Given the description of an element on the screen output the (x, y) to click on. 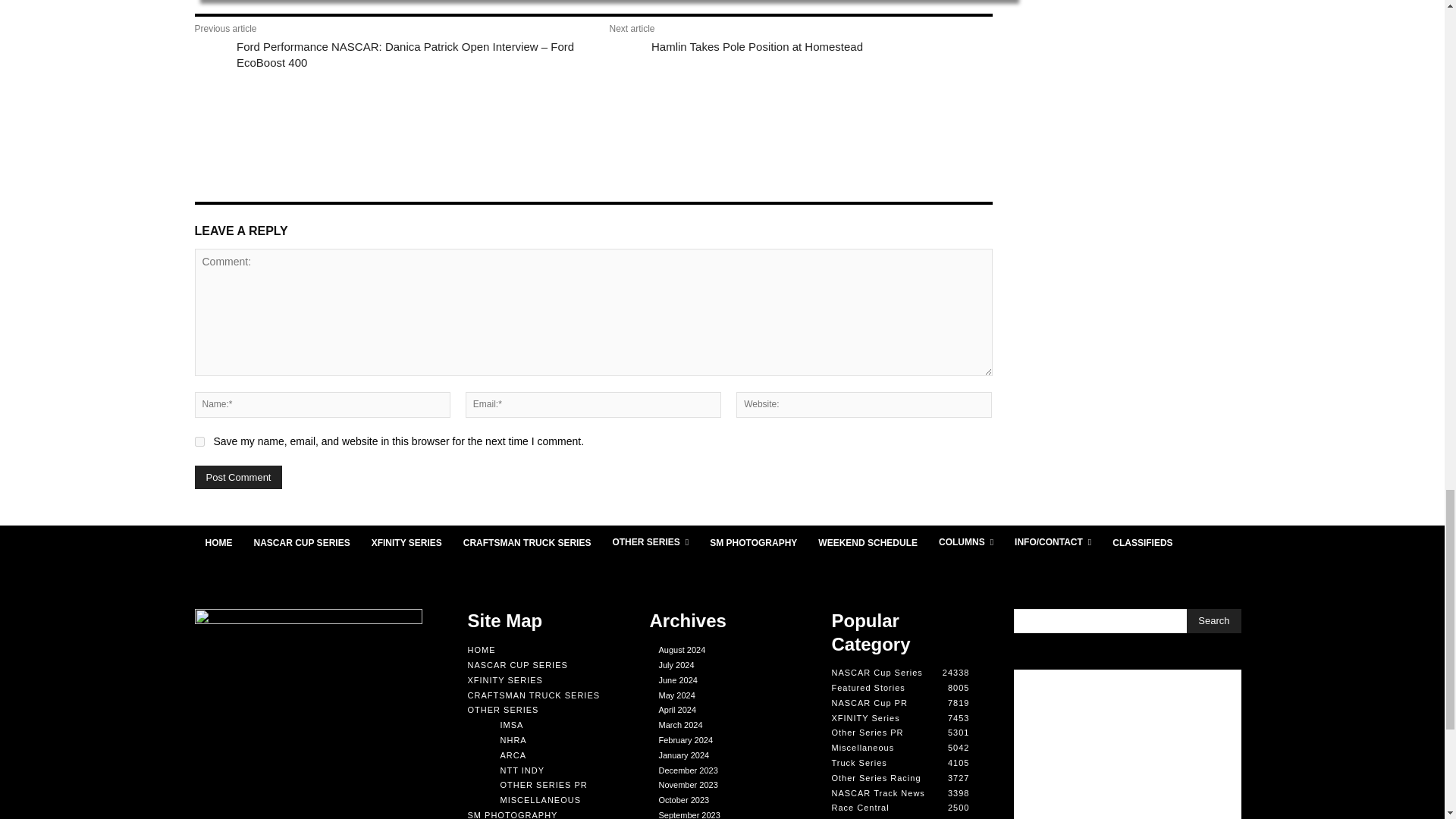
yes (198, 441)
Post Comment (237, 477)
